Given the description of an element on the screen output the (x, y) to click on. 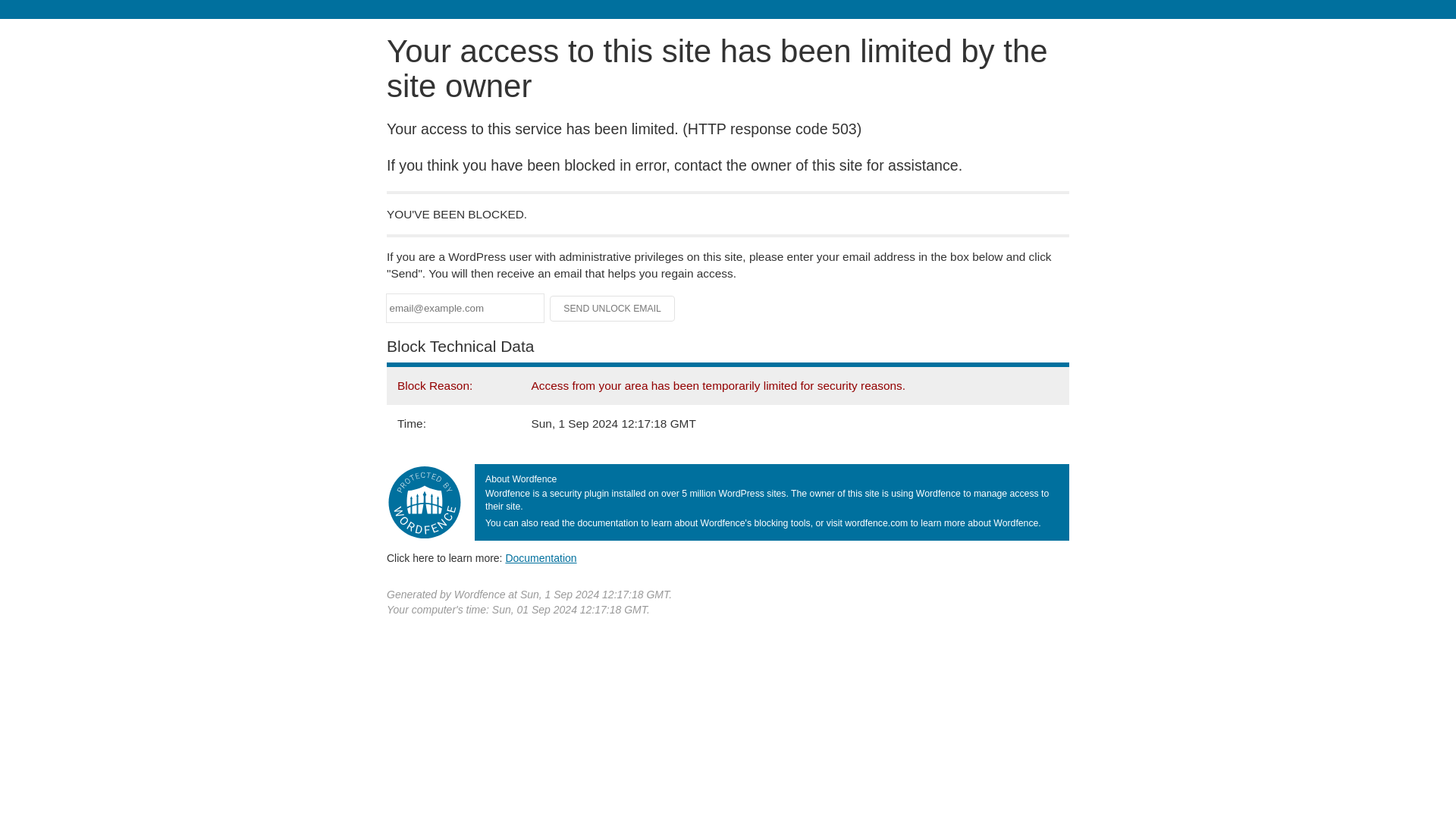
Send Unlock Email (612, 308)
Send Unlock Email (612, 308)
Documentation (540, 558)
